Given the description of an element on the screen output the (x, y) to click on. 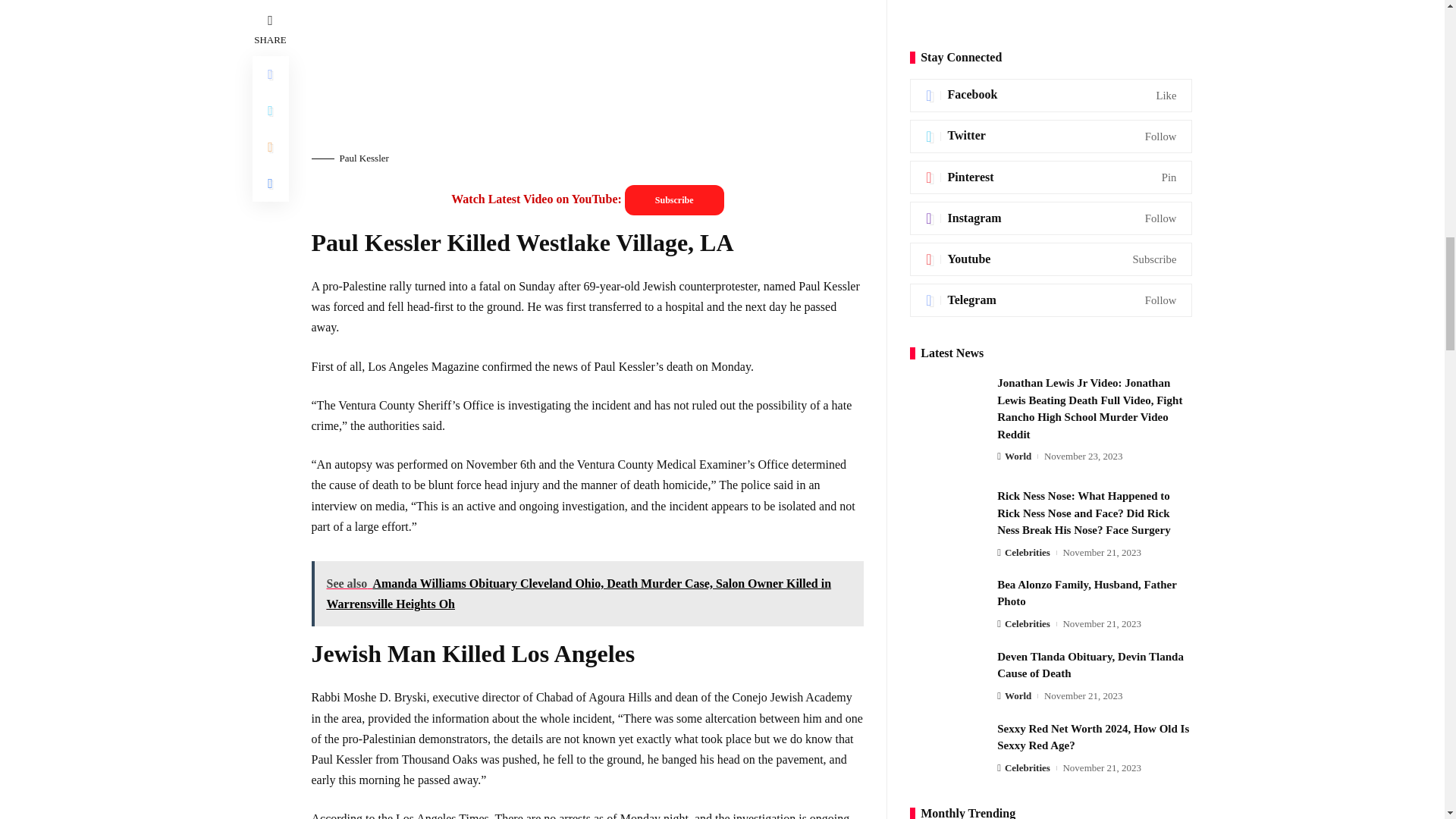
Bea Alonzo Family, Husband, Father Photo (947, 174)
